Given the description of an element on the screen output the (x, y) to click on. 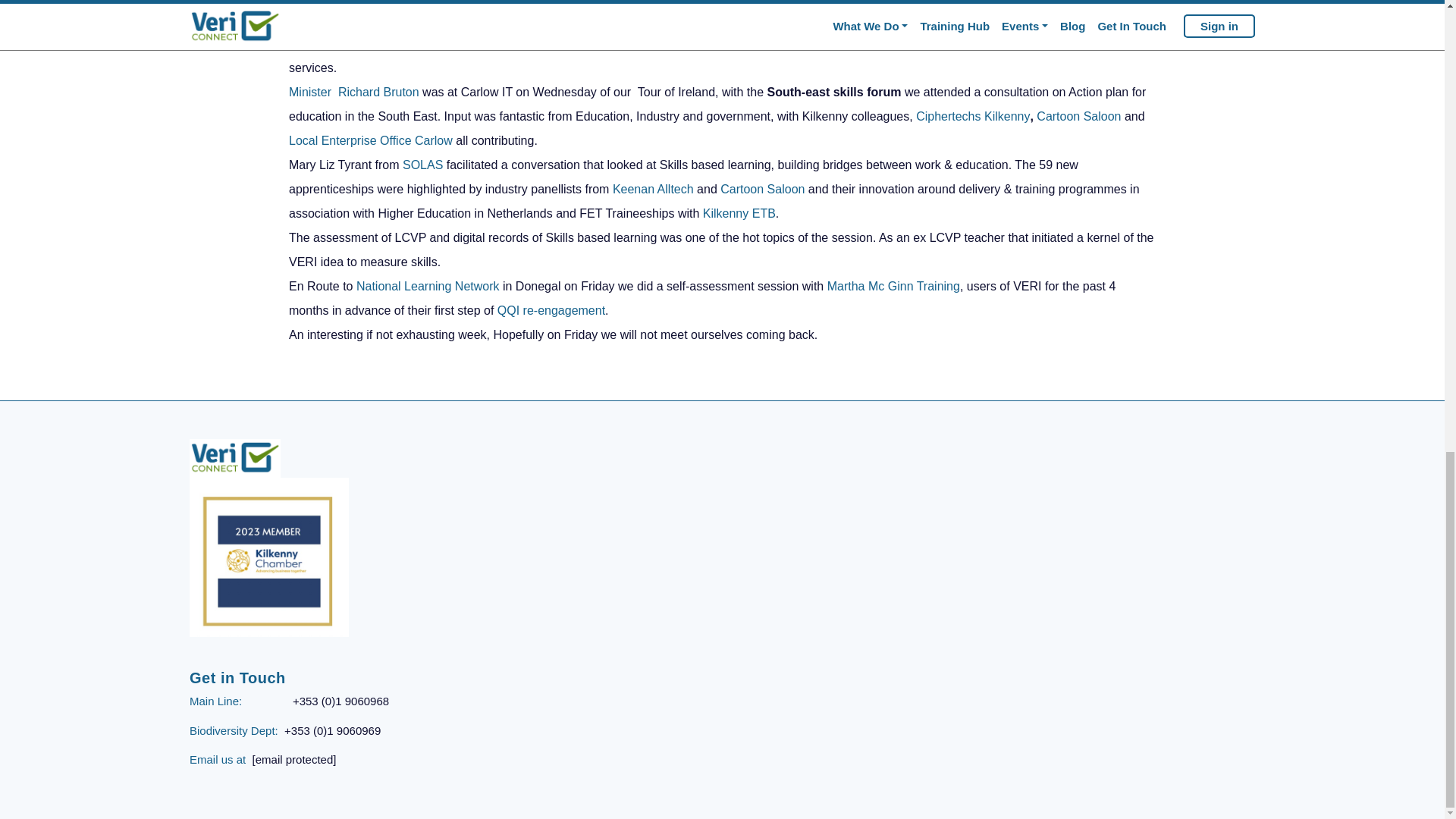
Martha Mc Ginn Training (893, 286)
Kilkenny ETB (739, 213)
National Learning Network  (429, 286)
Keenan Alltech  (654, 188)
Irish Wheelchair Association  (366, 42)
Local Enterprise Office Carlow (370, 140)
Ciphertechs Kilkenny (972, 115)
Minister  Richard Bruton (353, 91)
QQI (367, 0)
SOLAS (422, 164)
Cartoon Saloon (1078, 115)
QQI re-engagement (551, 309)
Cartoon Saloon (762, 188)
